Given the description of an element on the screen output the (x, y) to click on. 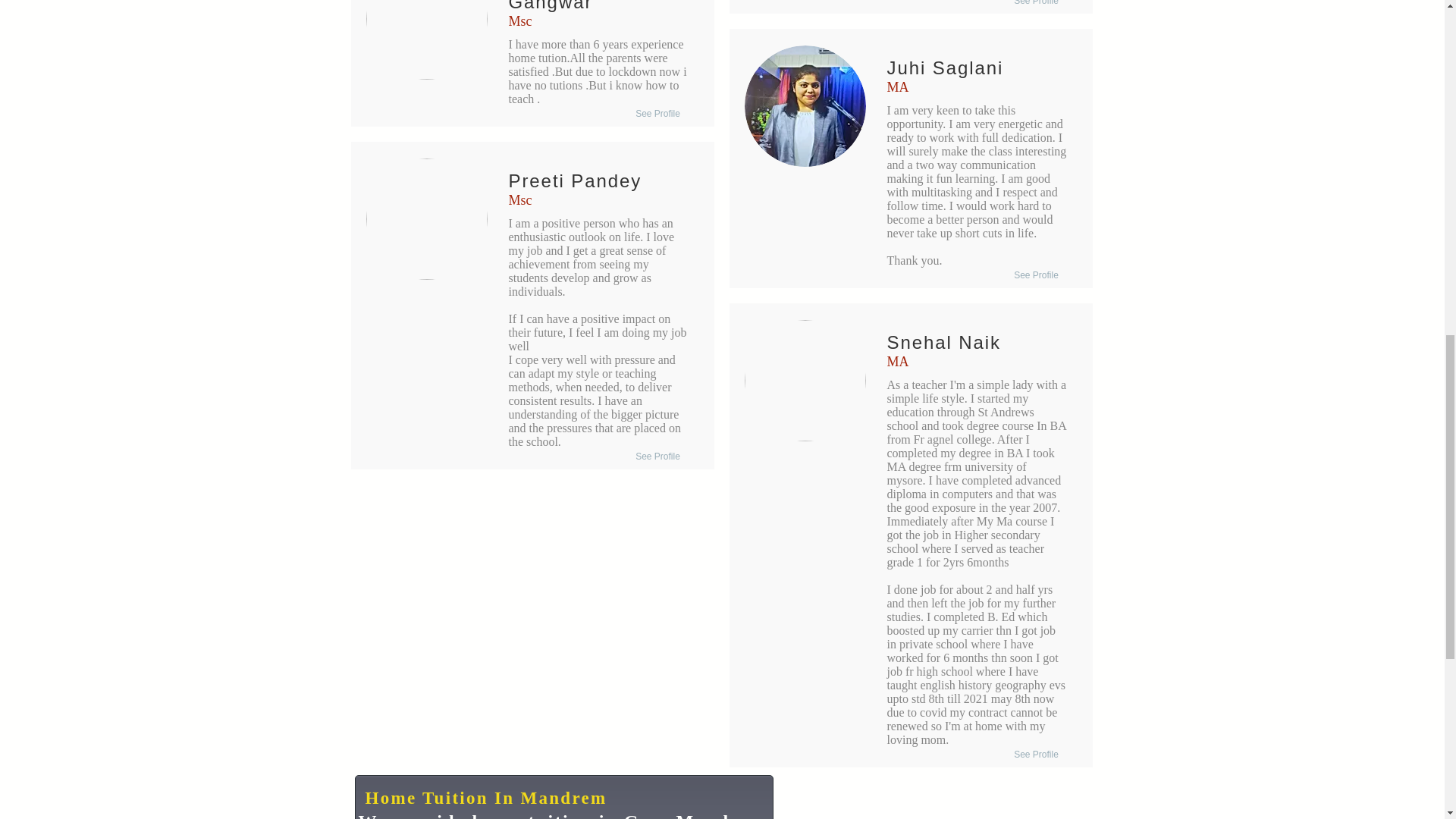
1624087596458..jpg (805, 106)
